Given the description of an element on the screen output the (x, y) to click on. 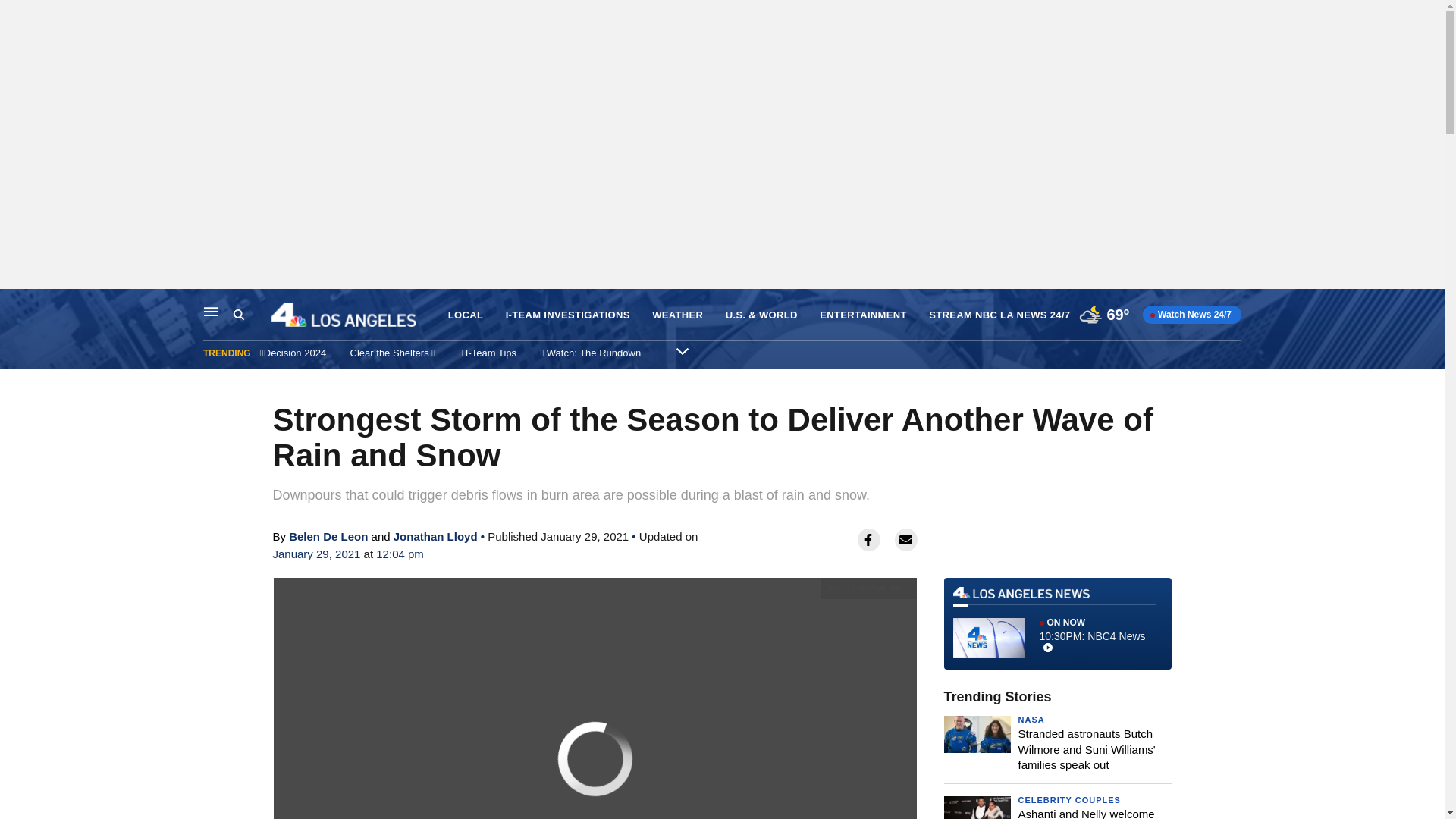
Expand (682, 350)
Search (238, 314)
Main Navigation (210, 311)
LOCAL (465, 315)
WEATHER (677, 315)
Belen De Leon (328, 535)
ENTERTAINMENT (863, 315)
I-TEAM INVESTIGATIONS (567, 315)
Search (252, 314)
